Given the description of an element on the screen output the (x, y) to click on. 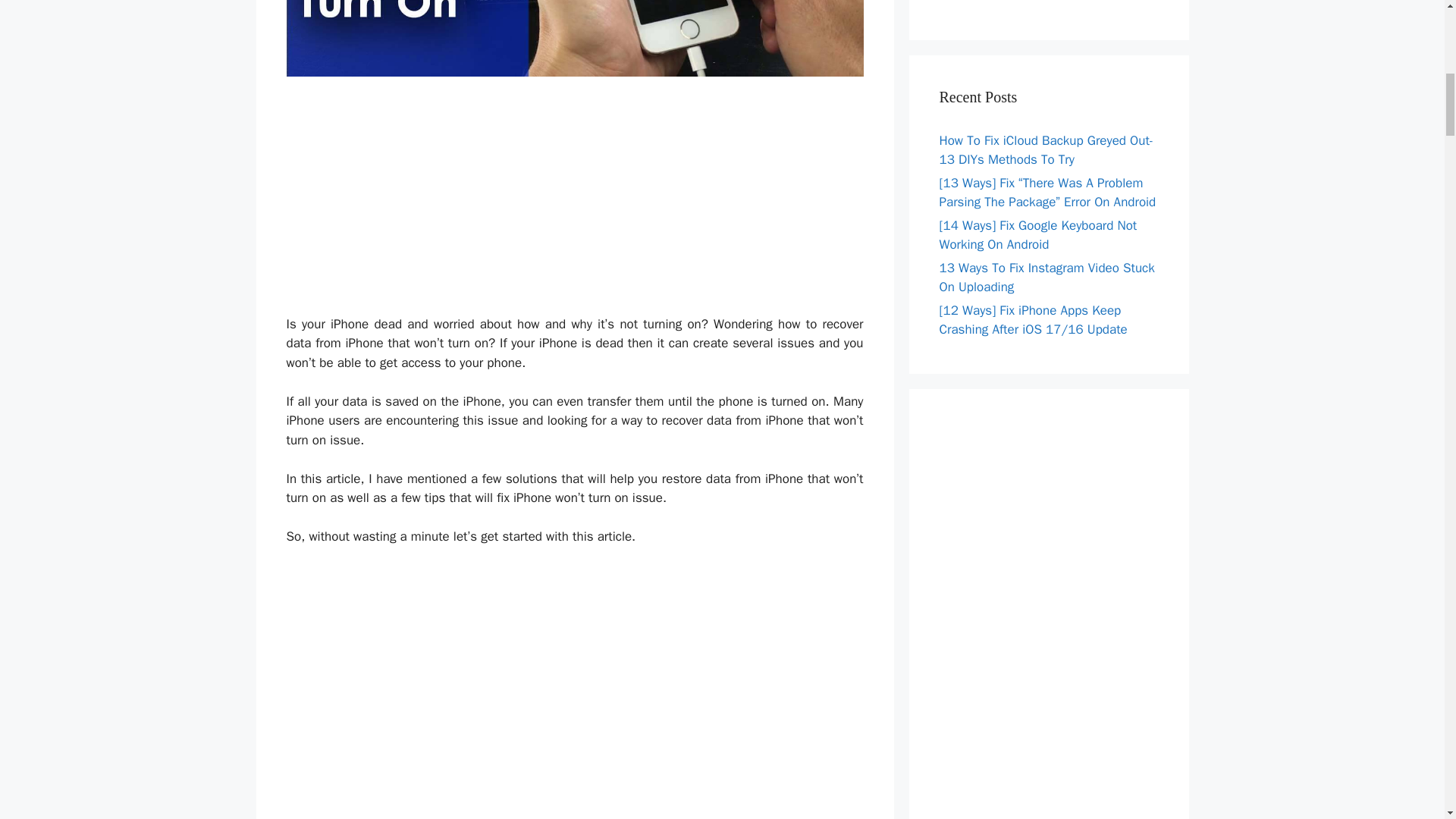
Scroll back to top (1406, 720)
Advertisement (574, 208)
Advertisement (1048, 4)
Advertisement (574, 671)
Advertisement (574, 798)
